Given the description of an element on the screen output the (x, y) to click on. 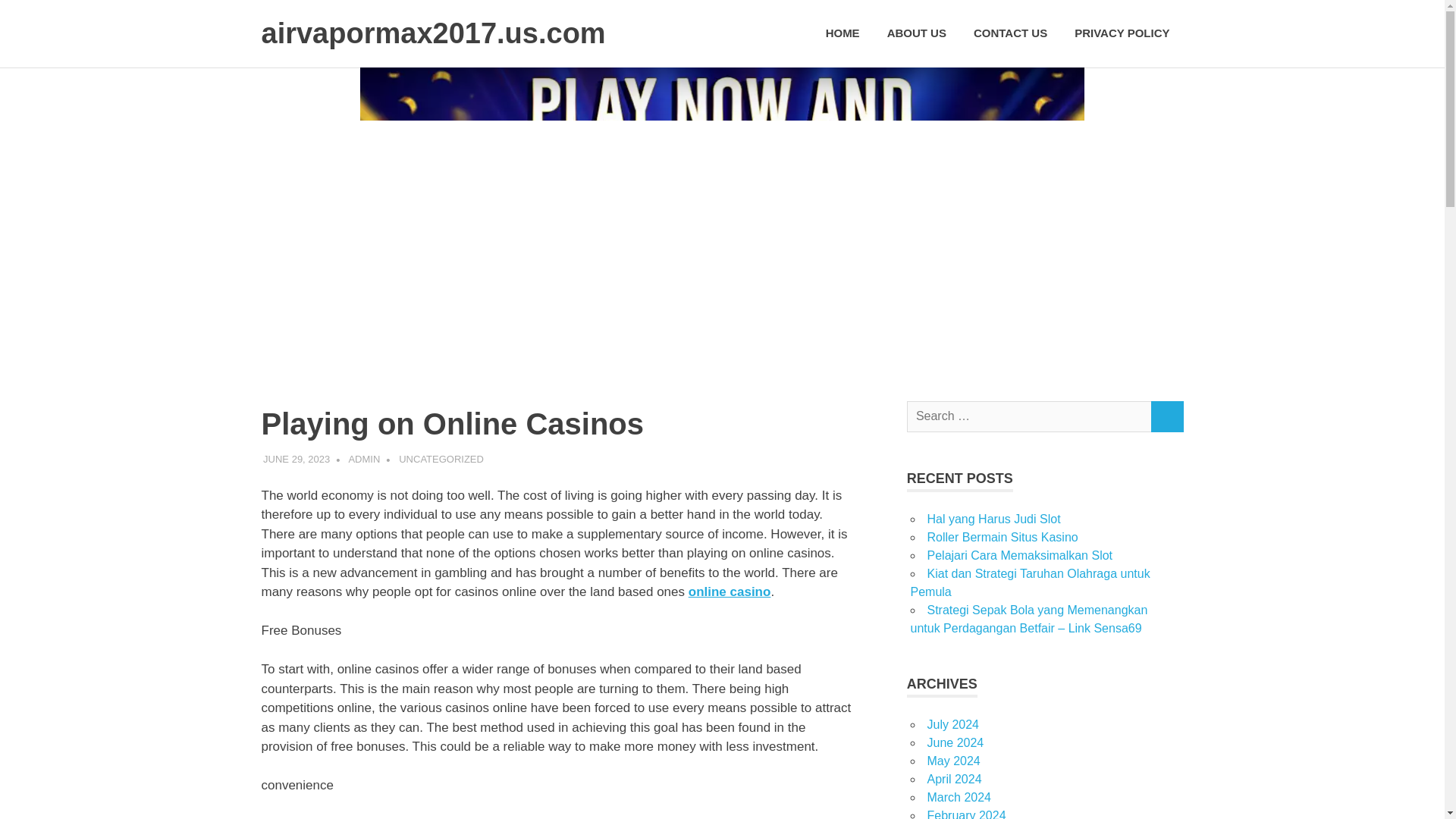
JUNE 29, 2023 (296, 459)
ADMIN (363, 459)
Pelajari Cara Memaksimalkan Slot (1019, 554)
online casino (729, 591)
June 2024 (955, 742)
July 2024 (952, 724)
SEARCH (1166, 416)
February 2024 (966, 814)
CONTACT US (1010, 33)
View all posts by admin (363, 459)
April 2024 (953, 779)
Roller Bermain Situs Kasino (1001, 536)
May 2024 (952, 760)
March 2024 (958, 797)
HOME (842, 33)
